Given the description of an element on the screen output the (x, y) to click on. 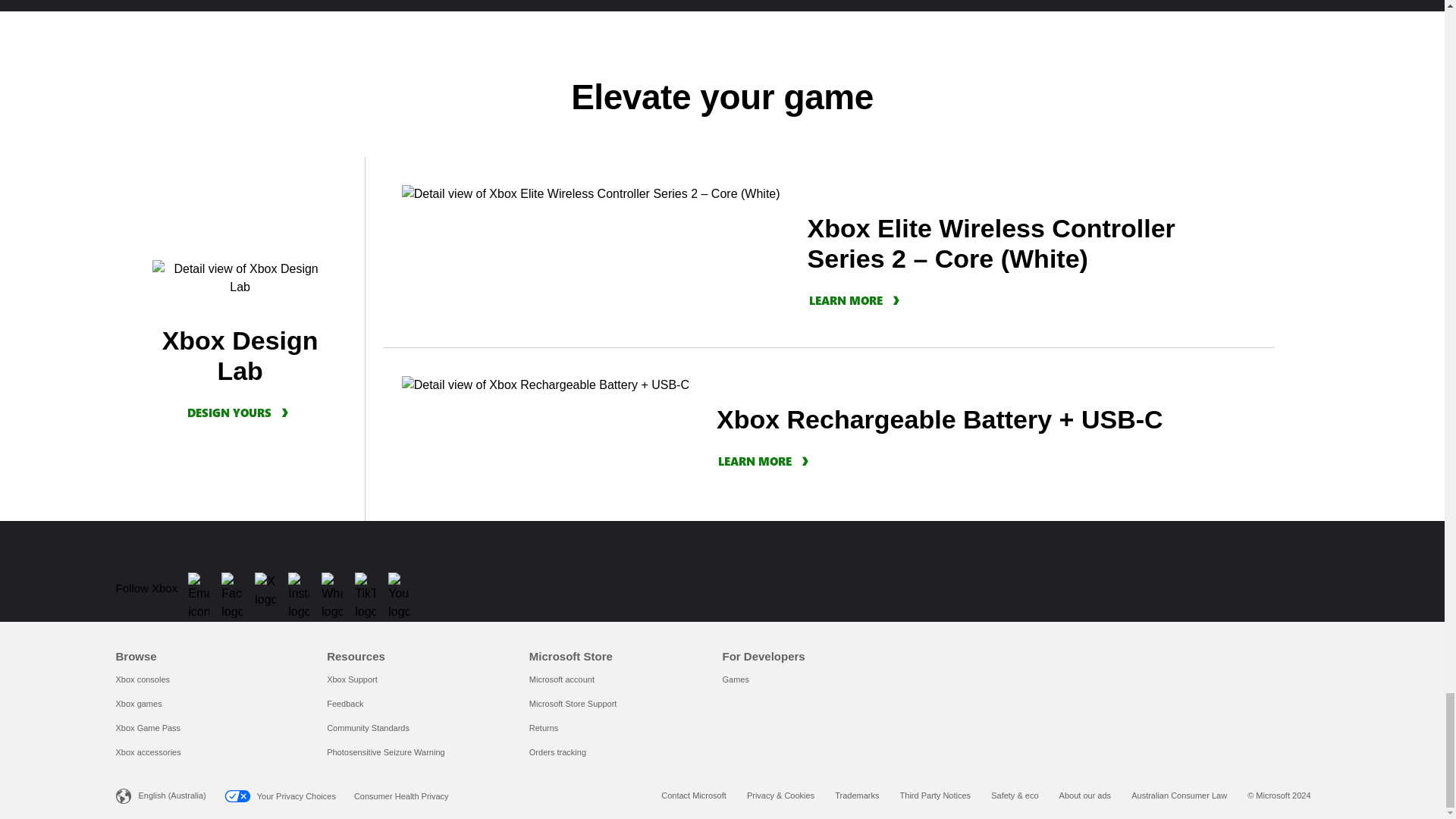
YouTube (403, 587)
Facebook (236, 587)
Email (202, 587)
TikTok (370, 587)
WhatsApp (336, 587)
X (269, 584)
Instagram (303, 587)
